Given the description of an element on the screen output the (x, y) to click on. 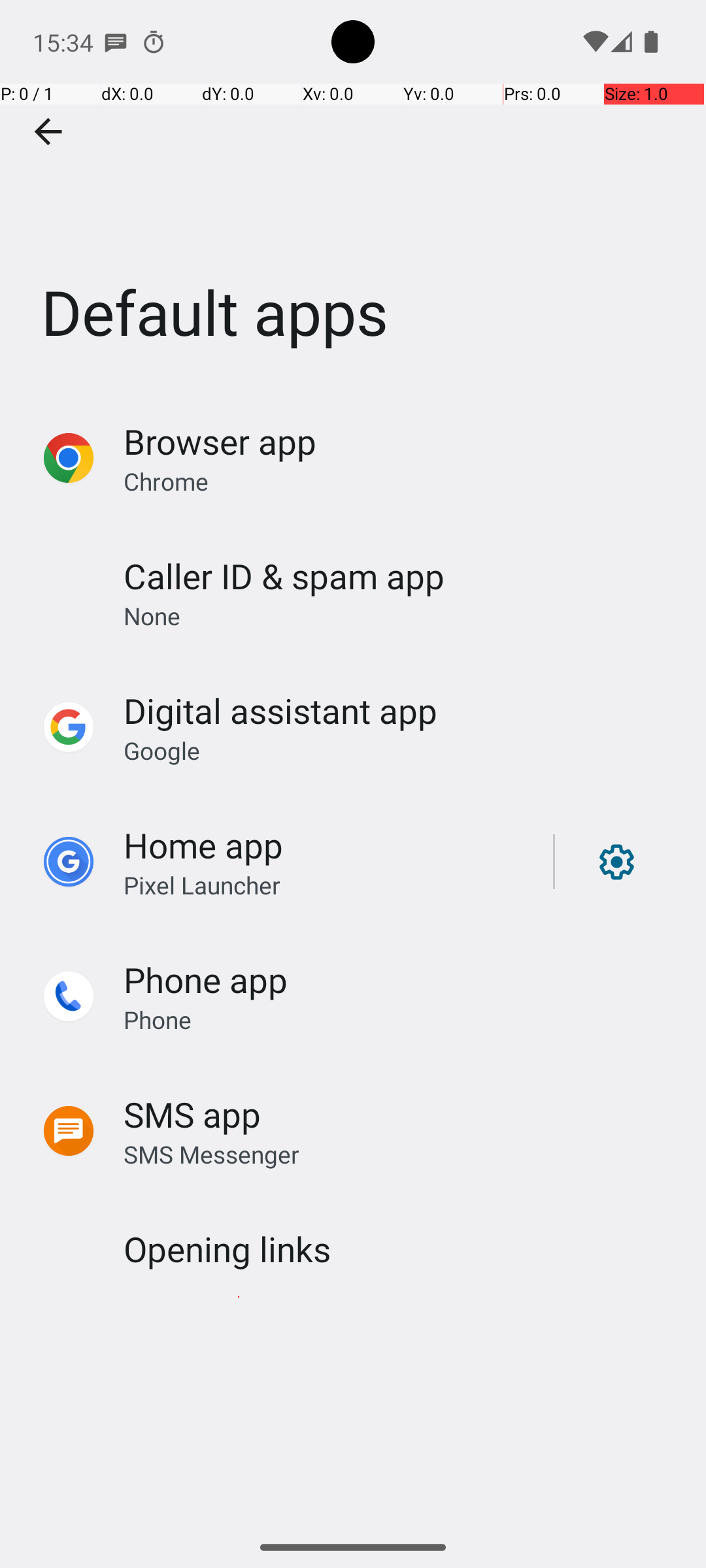
Browser app Element type: android.widget.TextView (220, 441)
Caller ID & spam app Element type: android.widget.TextView (283, 575)
Digital assistant app Element type: android.widget.TextView (280, 710)
Home app Element type: android.widget.TextView (203, 844)
Phone app Element type: android.widget.TextView (205, 979)
SMS app Element type: android.widget.TextView (191, 1114)
Opening links Element type: android.widget.TextView (226, 1248)
